Given the description of an element on the screen output the (x, y) to click on. 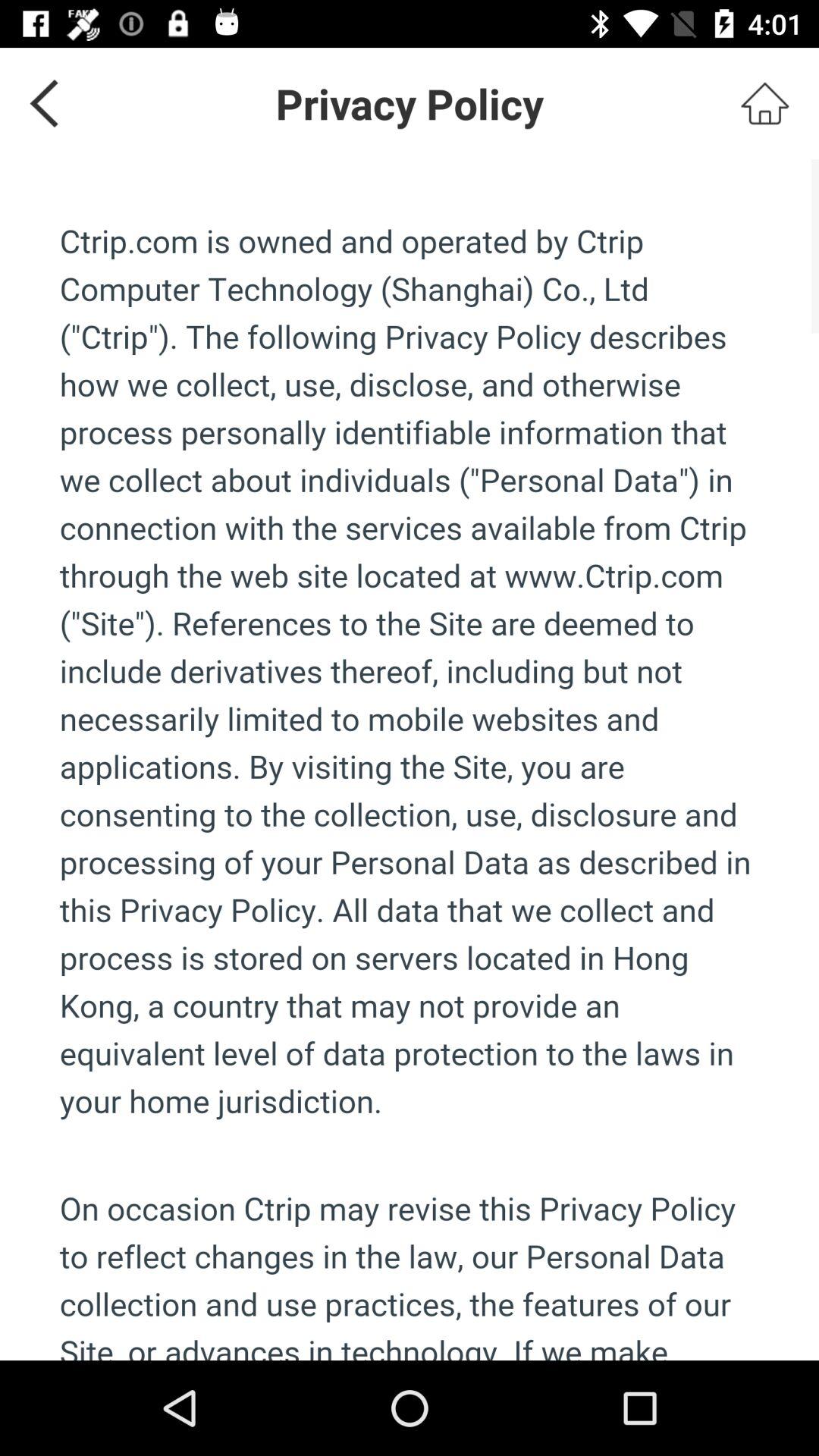
home (764, 103)
